Given the description of an element on the screen output the (x, y) to click on. 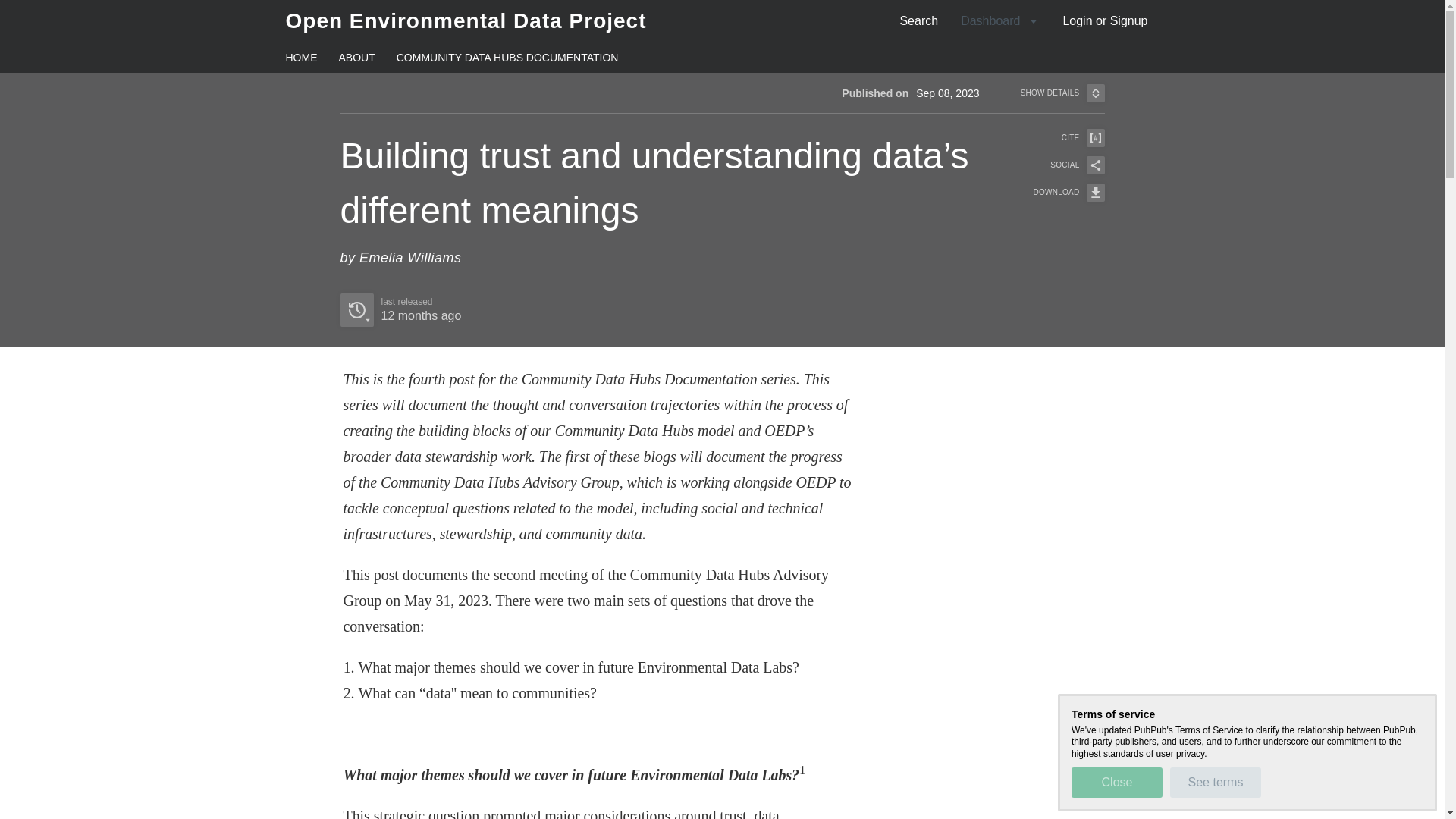
SOCIAL (1058, 165)
Open Environmental Data Project (465, 20)
Search (918, 20)
Dashboard (1000, 20)
See terms (1215, 782)
ABOUT (355, 57)
Login or Signup (400, 309)
SHOW DETAILS (1104, 20)
CITE (1062, 93)
